Given the description of an element on the screen output the (x, y) to click on. 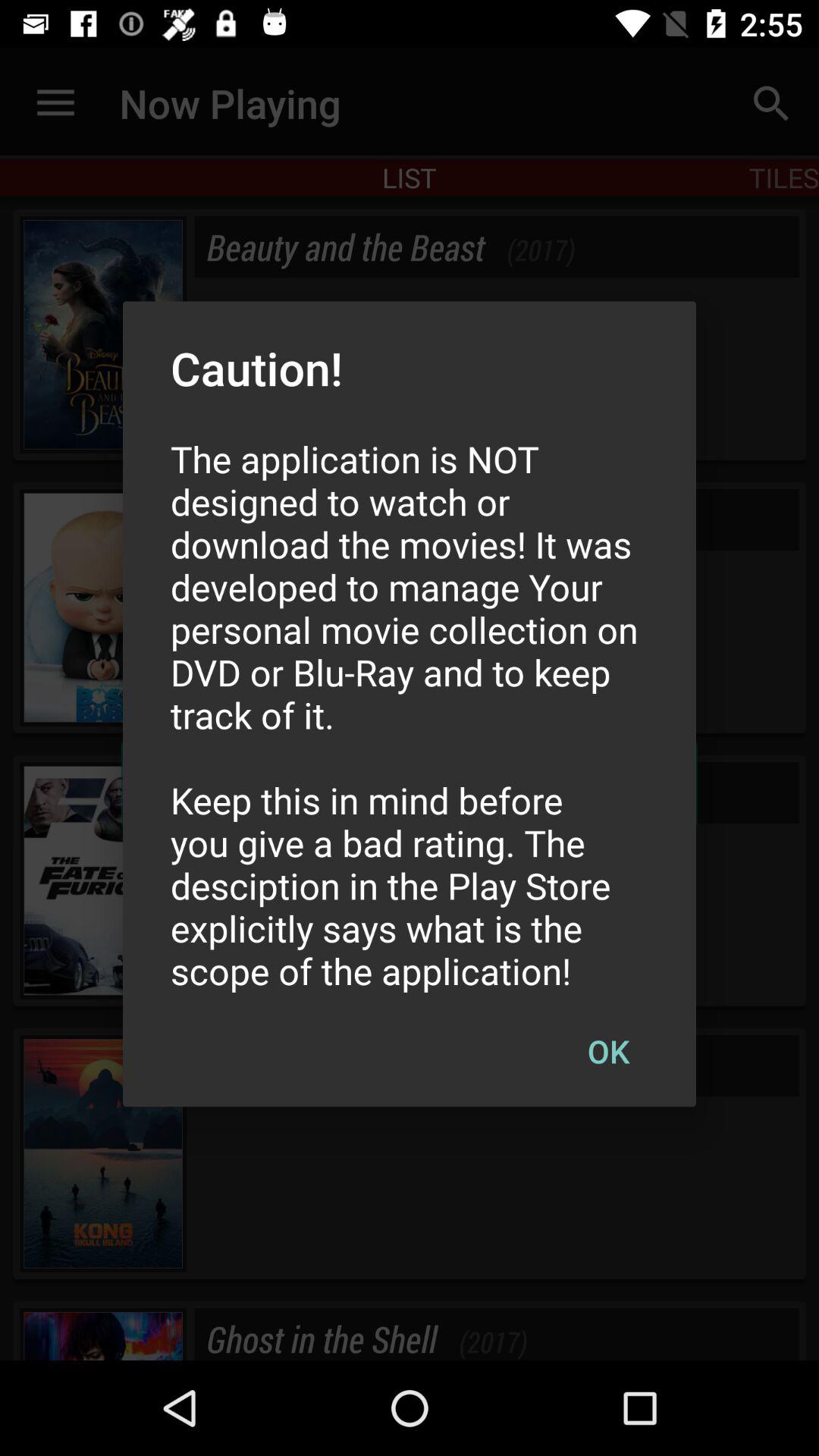
choose ok at the bottom right corner (608, 1050)
